Given the description of an element on the screen output the (x, y) to click on. 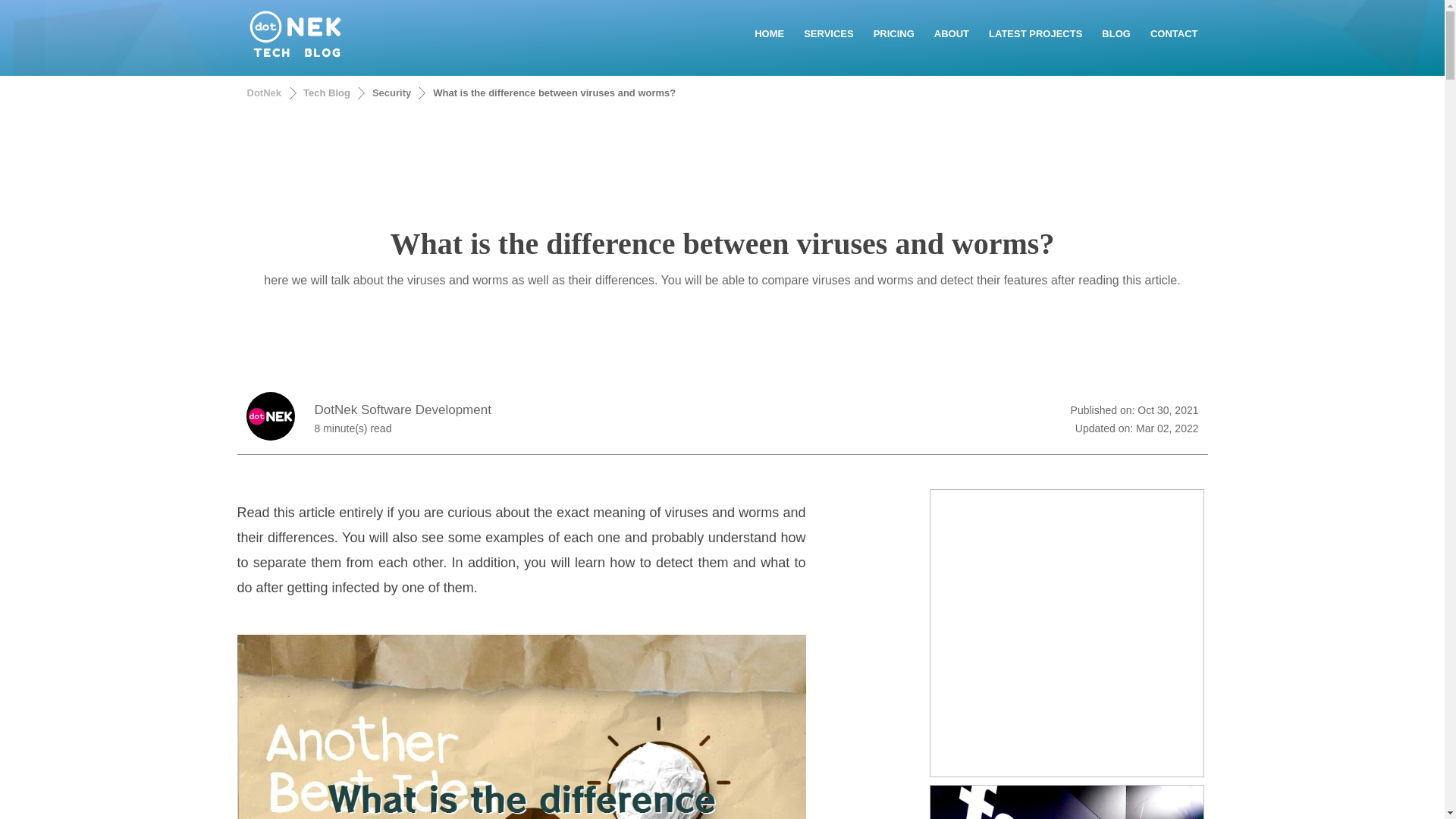
LATEST PROJECTS (1035, 33)
SERVICES (828, 33)
PRICING (893, 33)
CONTACT (1174, 33)
